Given the description of an element on the screen output the (x, y) to click on. 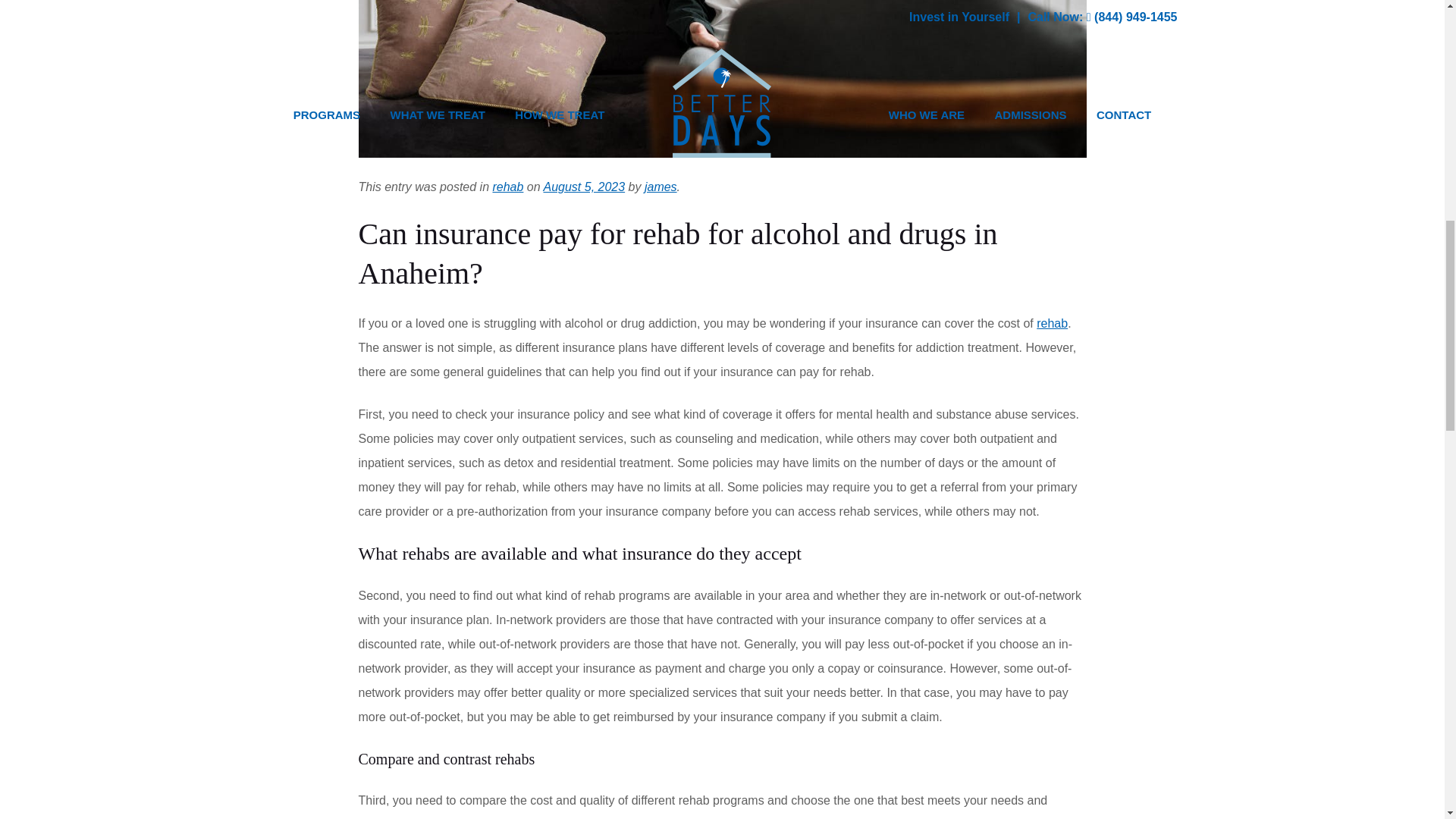
View all posts by james (661, 186)
11:23 pm (583, 186)
